Given the description of an element on the screen output the (x, y) to click on. 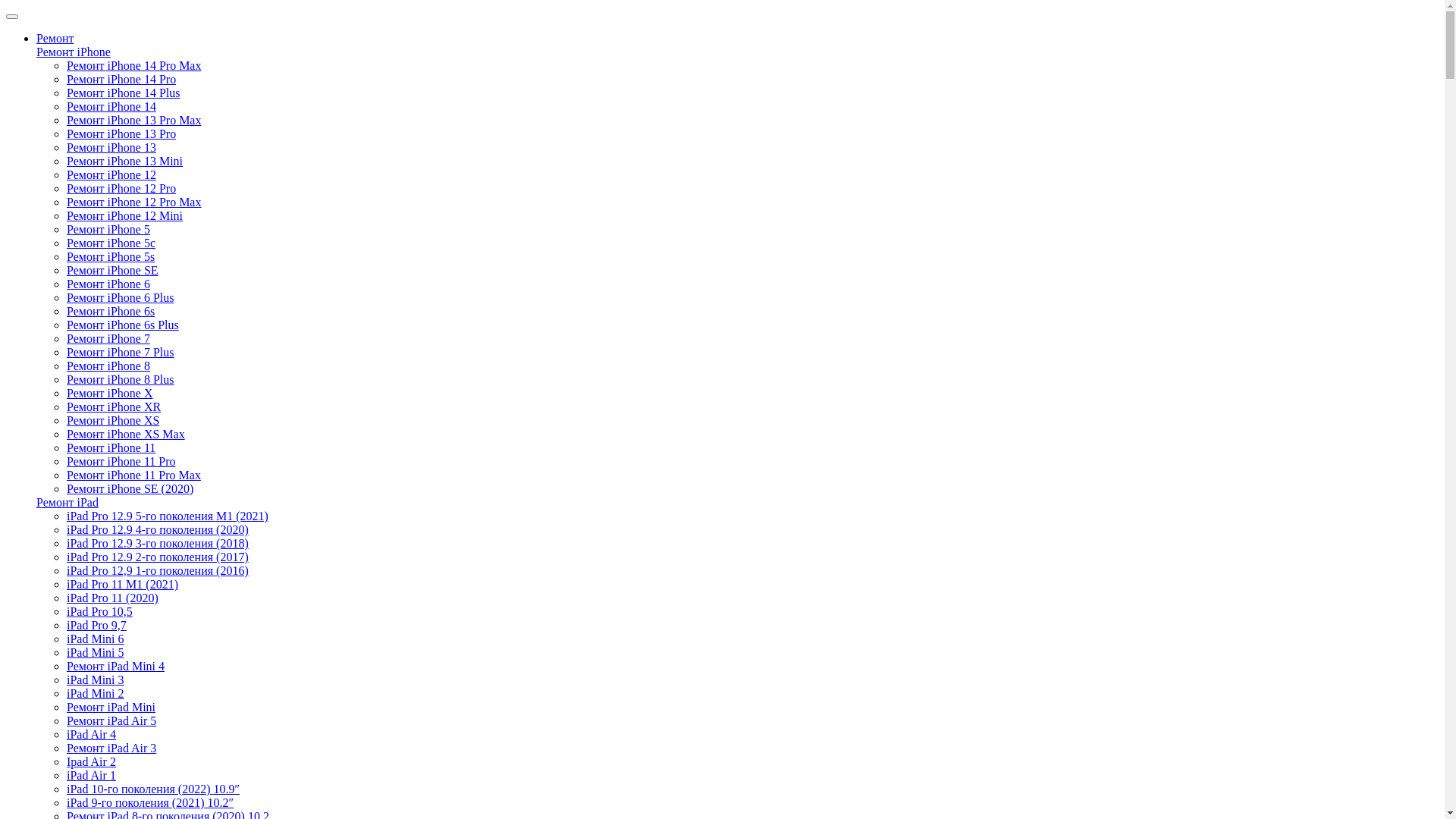
iPad Mini 6 Element type: text (95, 638)
iPad Pro 10,5 Element type: text (99, 611)
iPad Pro 11 M1 (2021) Element type: text (122, 583)
iPad Mini 5 Element type: text (95, 652)
iPad Pro 11 (2020) Element type: text (112, 597)
iPad Pro 9,7 Element type: text (96, 624)
Ipad Air 2 Element type: text (91, 761)
iPad Mini 3 Element type: text (95, 679)
iPad Air 4 Element type: text (91, 734)
iPad Mini 2 Element type: text (95, 693)
iPad Air 1 Element type: text (91, 774)
